Given the description of an element on the screen output the (x, y) to click on. 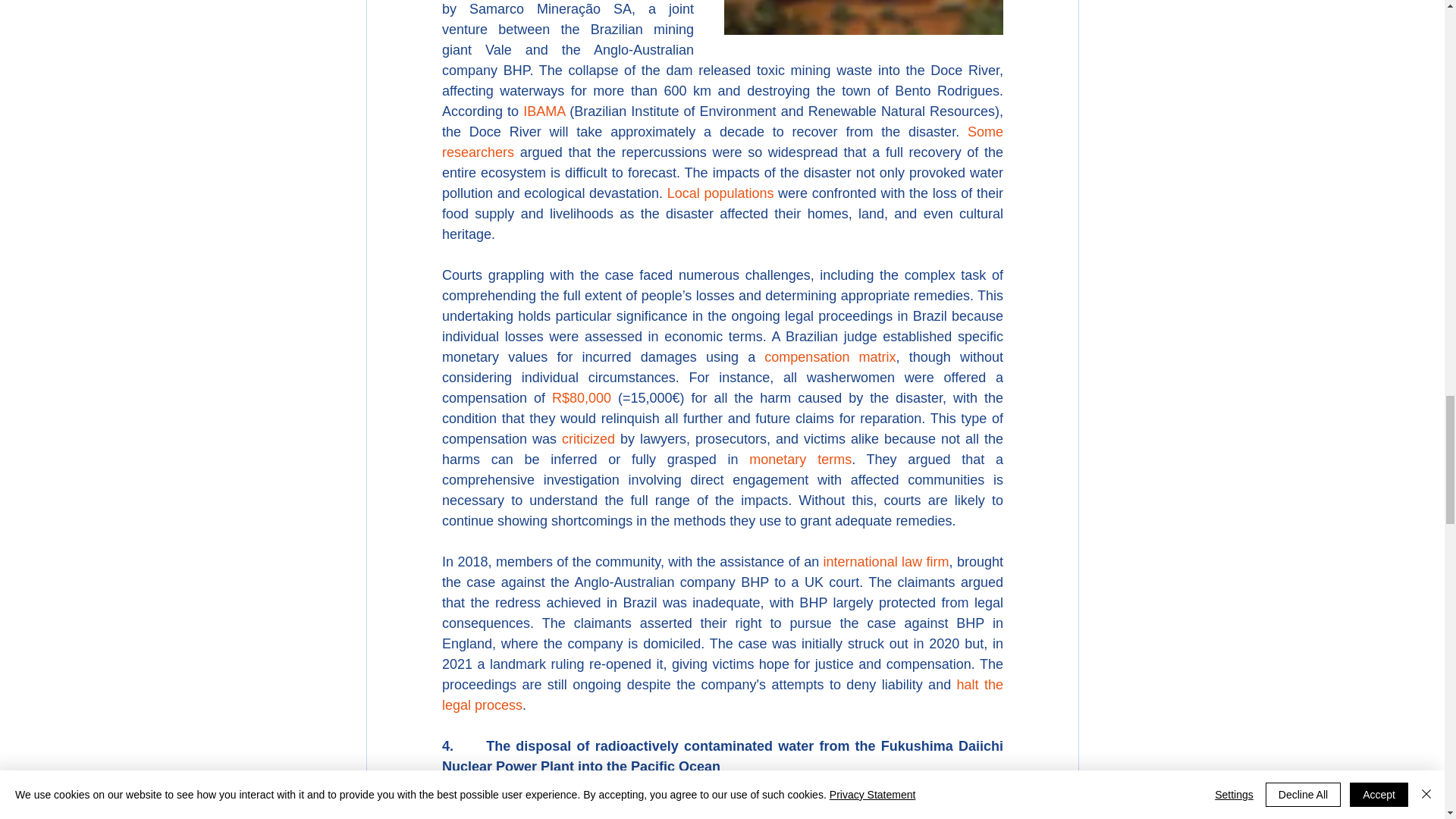
international law firm (885, 561)
IBAMA (543, 111)
compensation matrix (829, 356)
monetary terms (800, 459)
halt the legal process (723, 694)
criticized (588, 438)
Some researchers (723, 141)
Local populations (719, 192)
